Given the description of an element on the screen output the (x, y) to click on. 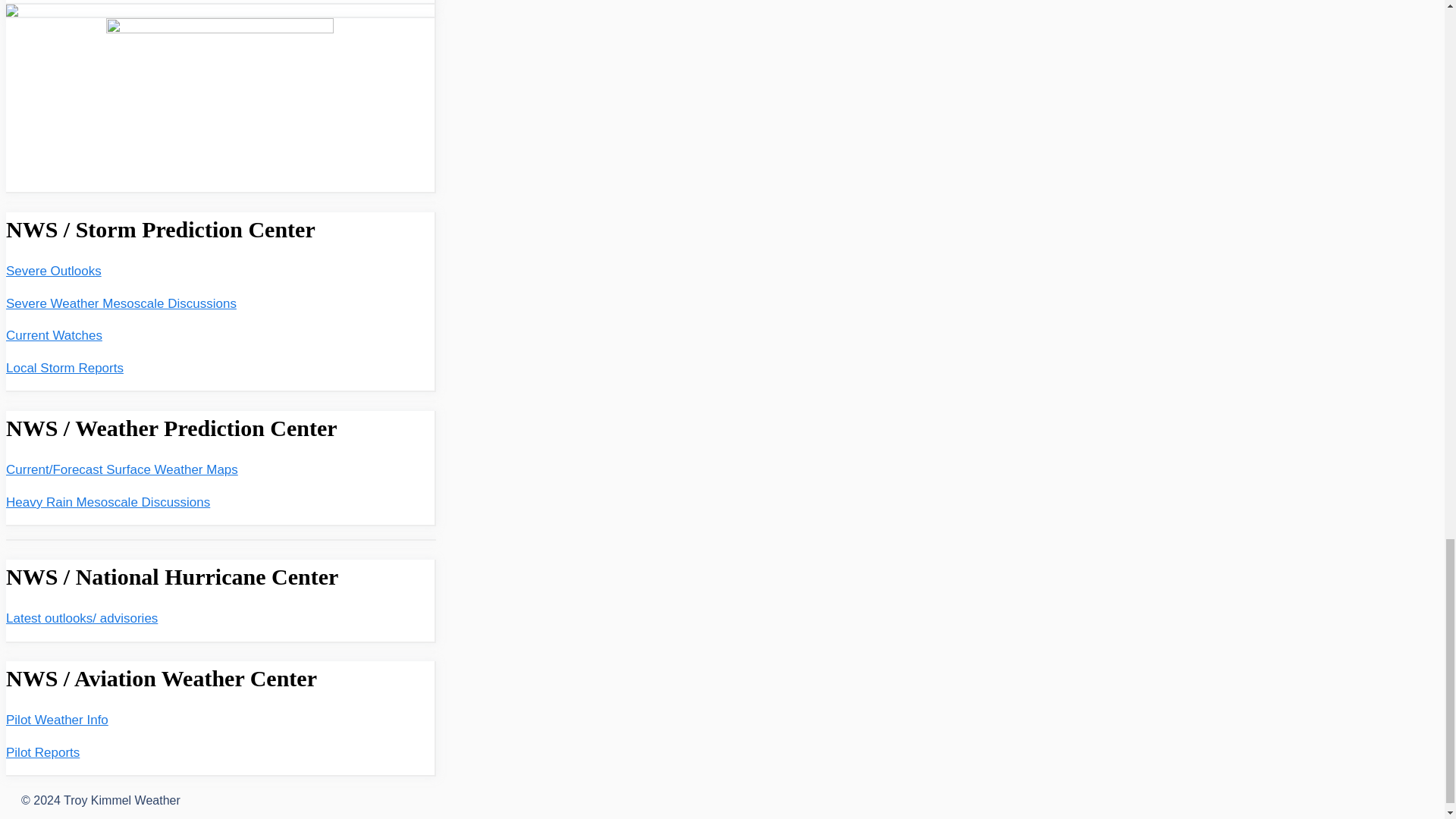
Heavy Rain Mesoscale Discussions (107, 502)
Piolet Weather Info (56, 719)
Current Watches (53, 335)
Storm Prediction Center Severe Outlooks (53, 270)
Mesoscale Discussions (120, 303)
Severe Outlooks (53, 270)
Latest Outlooks (81, 617)
Piolet Weather Info (42, 752)
Current Watches (53, 335)
Pilot Reports (42, 752)
